Given the description of an element on the screen output the (x, y) to click on. 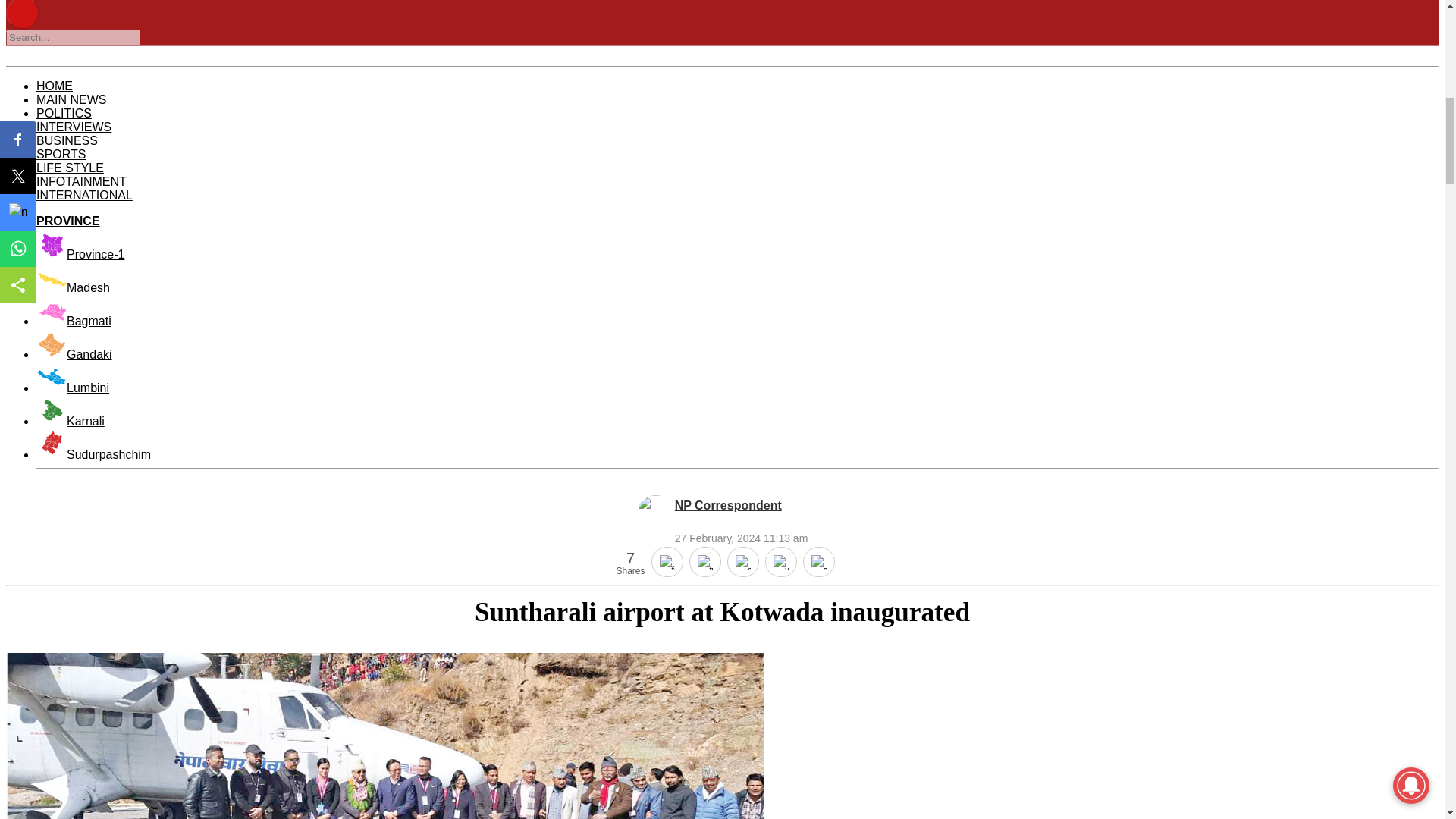
MAIN NEWS (71, 99)
INTERVIEWS (74, 126)
POLITICS (63, 113)
HOME (54, 85)
